Given the description of an element on the screen output the (x, y) to click on. 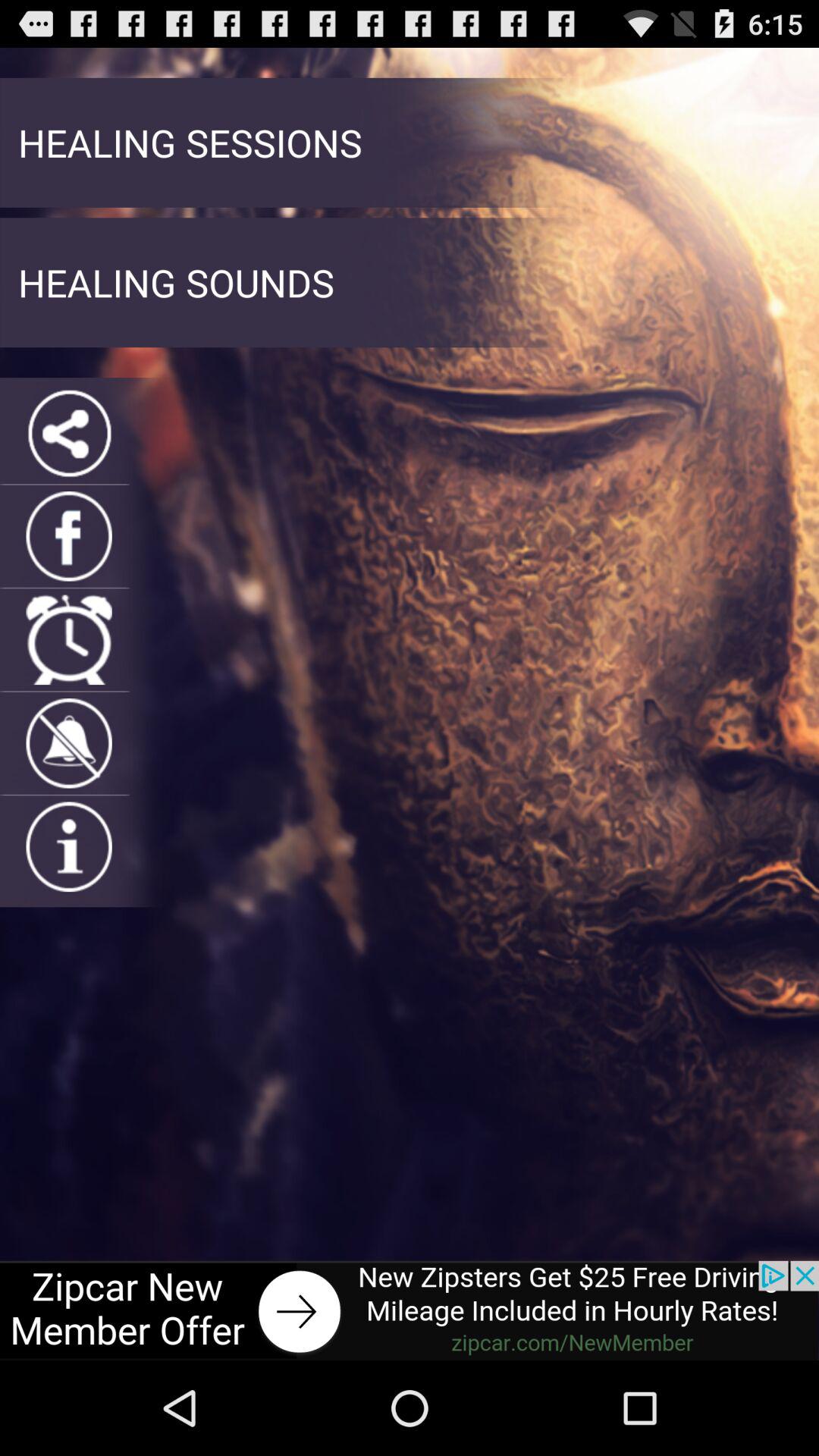
schedule (69, 639)
